Given the description of an element on the screen output the (x, y) to click on. 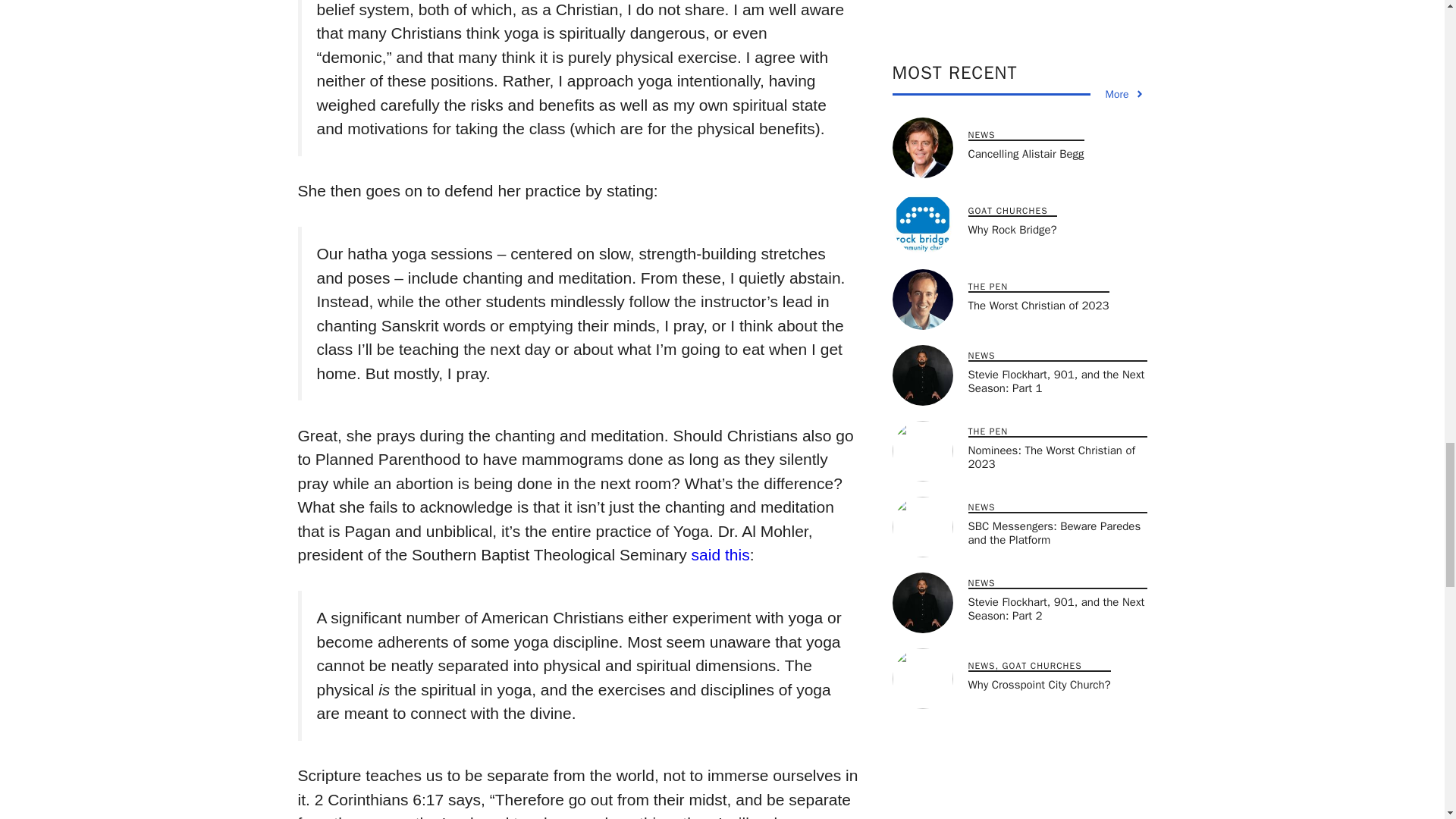
said this (720, 554)
